Given the description of an element on the screen output the (x, y) to click on. 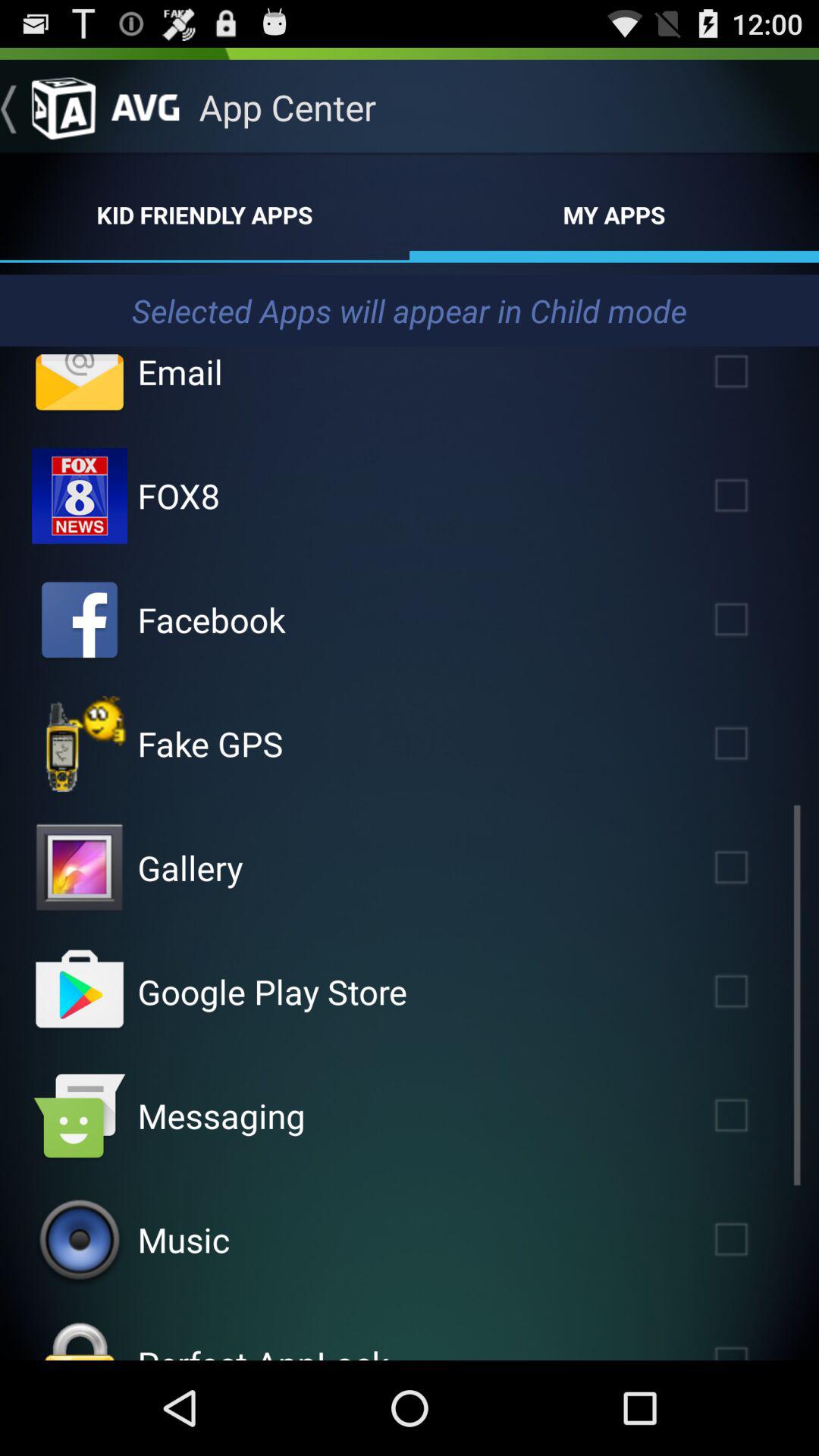
open fox8 app information (79, 495)
